Given the description of an element on the screen output the (x, y) to click on. 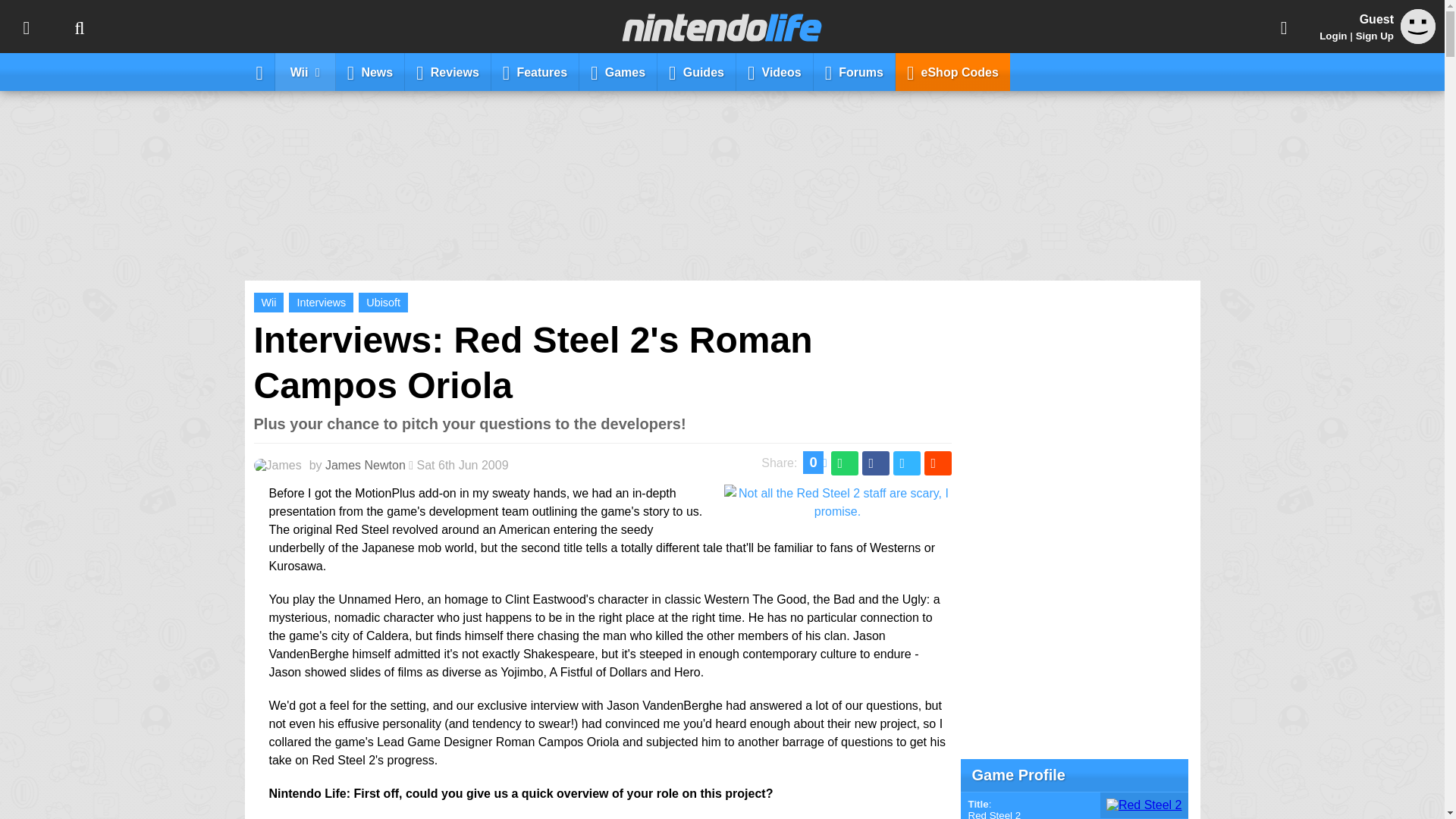
Login (1332, 35)
Features (535, 71)
Nintendo Life (721, 27)
Search (79, 26)
James Newton (365, 464)
Interviews: Red Steel 2's Roman Campos Oriola (532, 362)
Reviews (448, 71)
Wii (268, 302)
Ubisoft (382, 302)
Nintendo Life (721, 27)
